Given the description of an element on the screen output the (x, y) to click on. 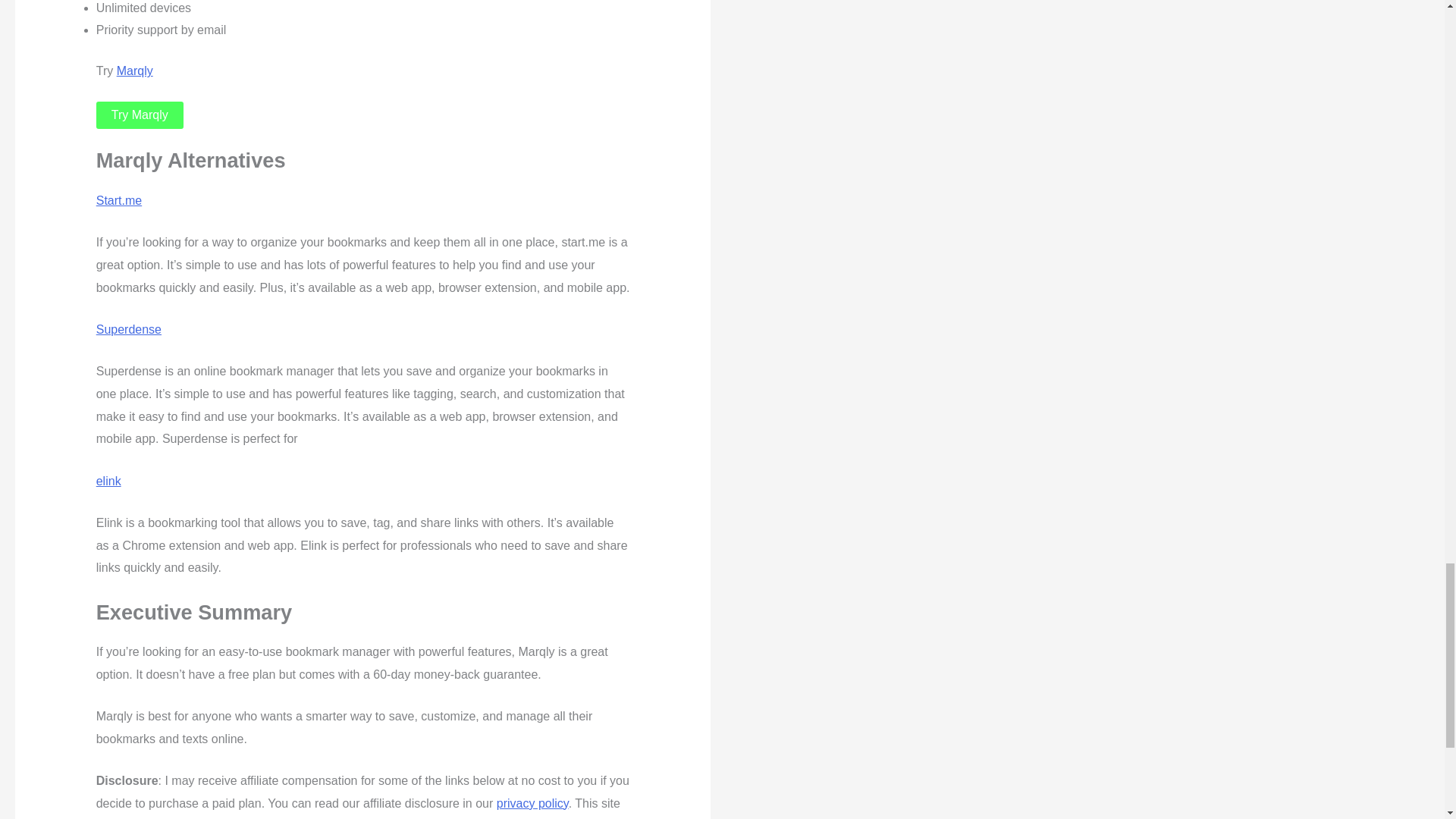
Start.me (118, 200)
elink (108, 481)
privacy policy (532, 802)
Try Marqly (139, 114)
Marqly (134, 70)
Superdense (128, 328)
